Given the description of an element on the screen output the (x, y) to click on. 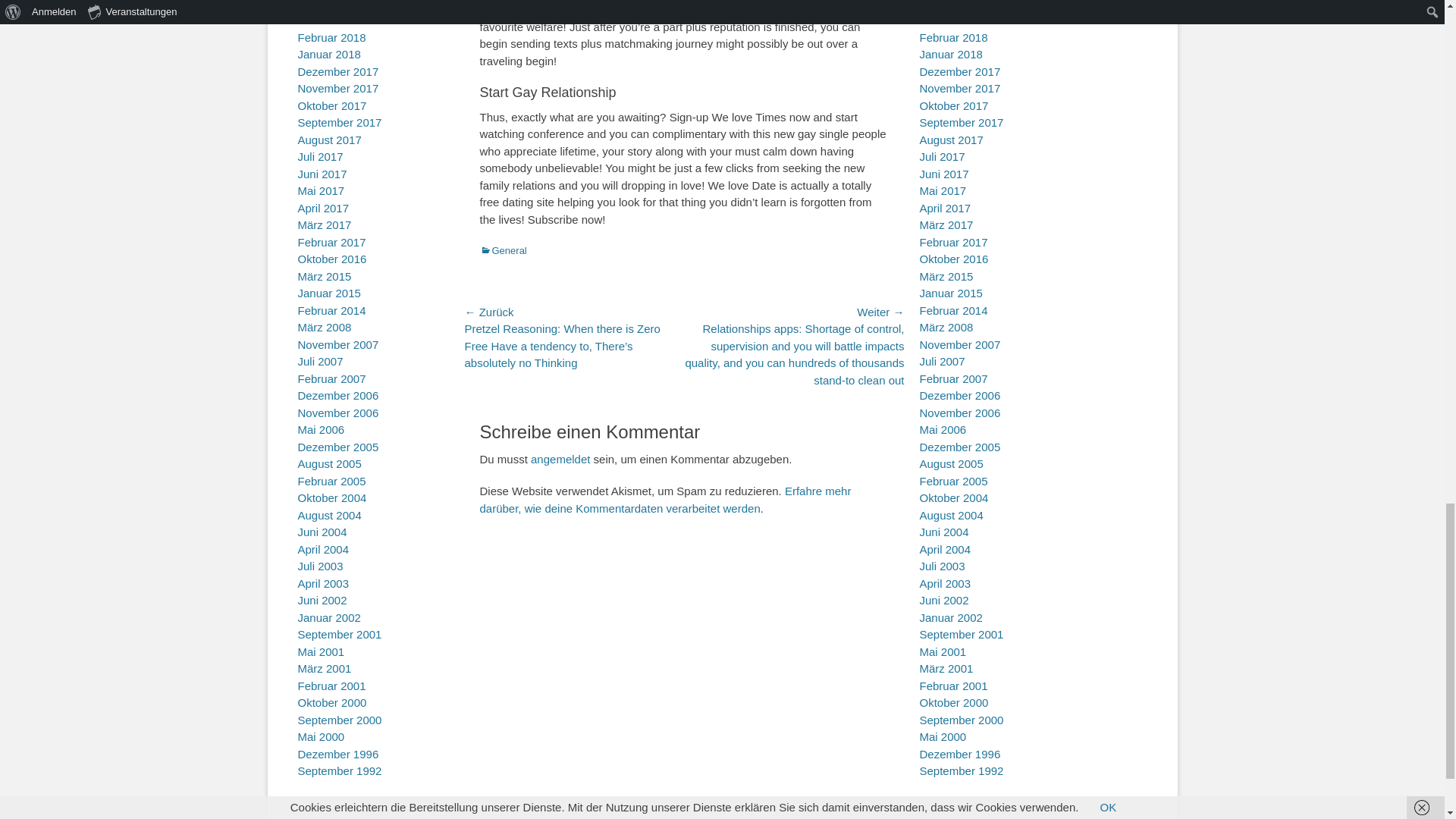
angemeldet (560, 459)
General (502, 250)
